Given the description of an element on the screen output the (x, y) to click on. 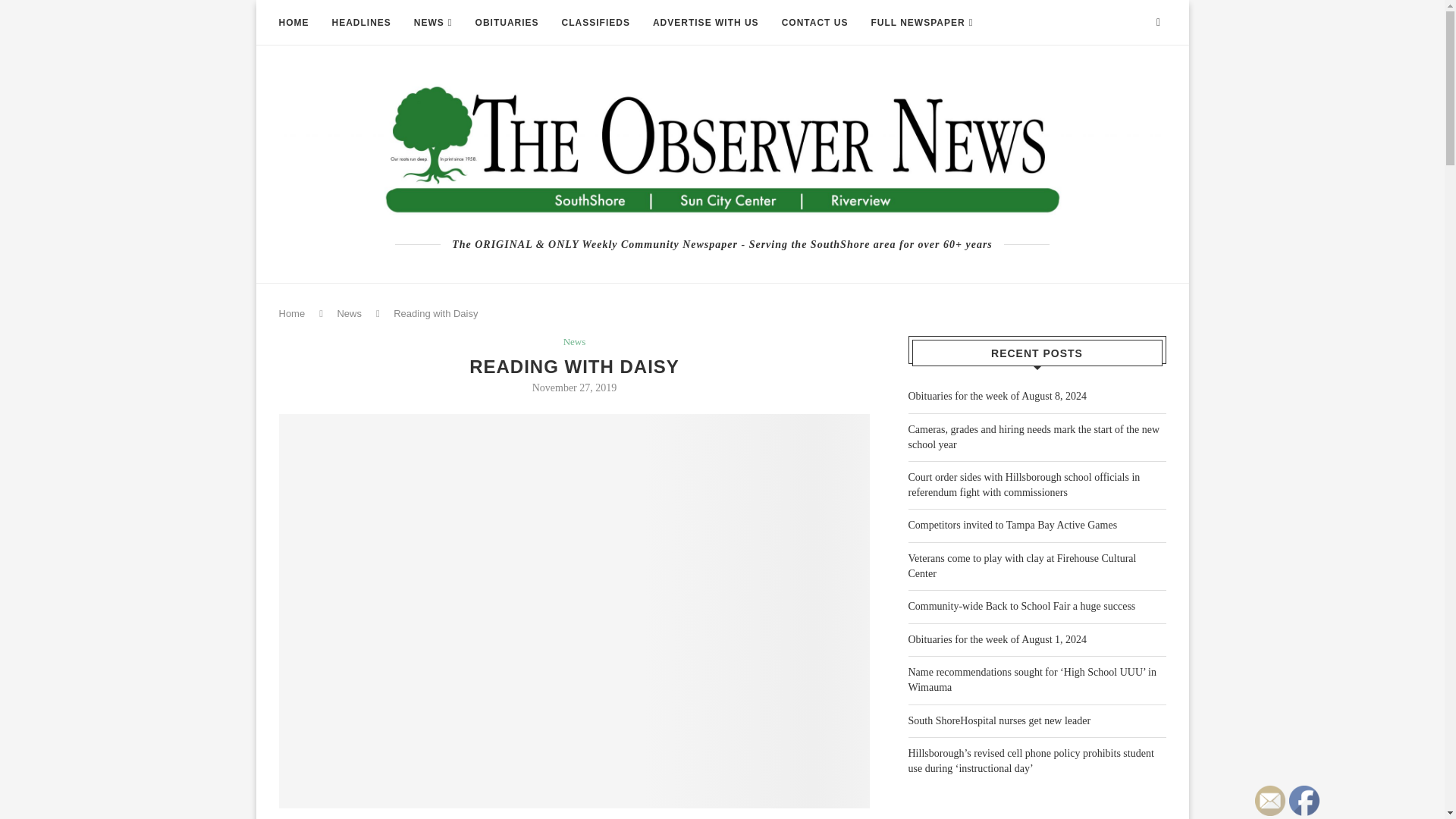
News (574, 341)
Home (292, 313)
CONTACT US (814, 22)
HEADLINES (361, 22)
News (348, 313)
ADVERTISE WITH US (705, 22)
OBITUARIES (507, 22)
CLASSIFIEDS (596, 22)
FULL NEWSPAPER (921, 22)
